Given the description of an element on the screen output the (x, y) to click on. 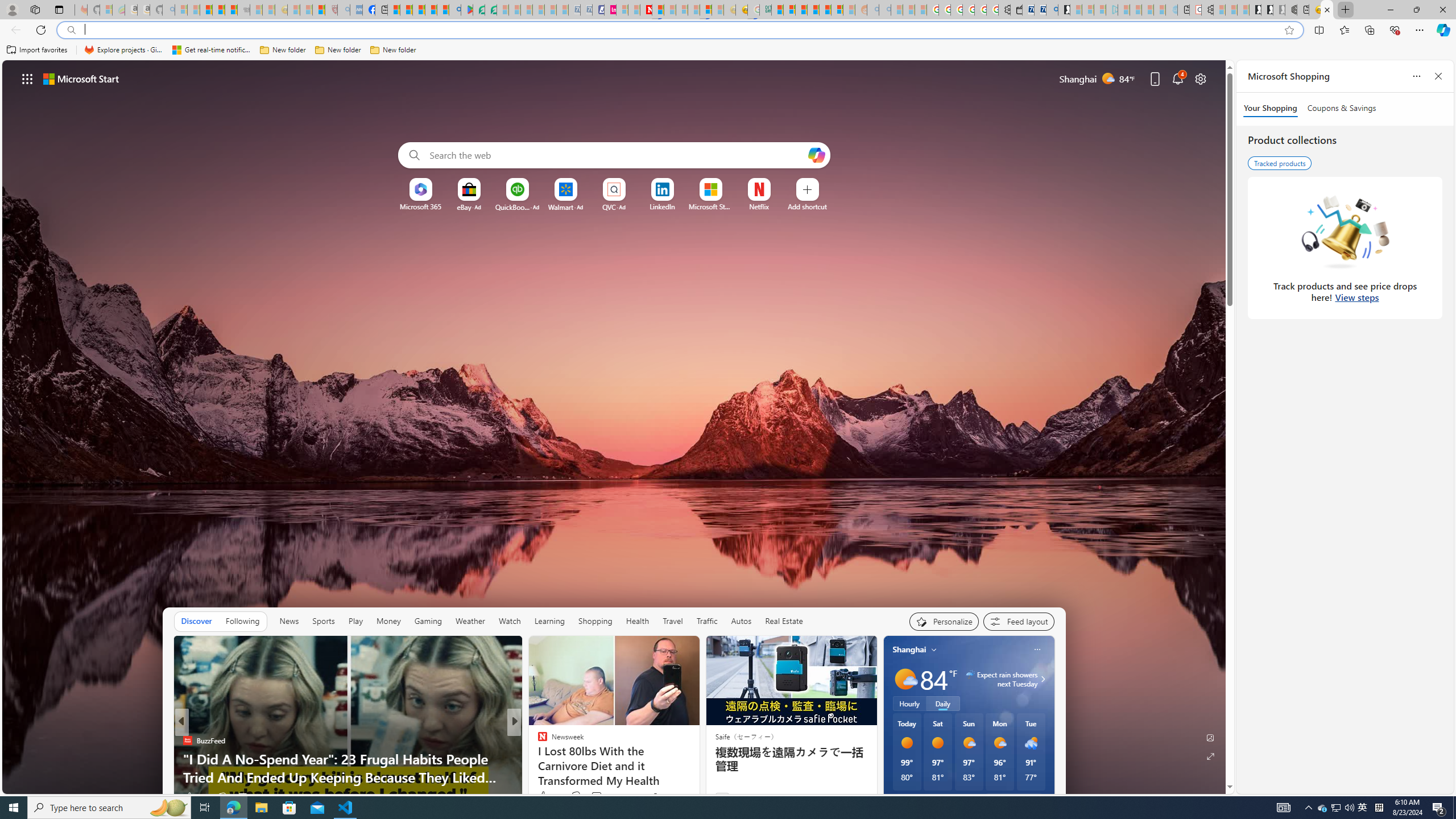
15 Anti-Aging Foods to Add to Your Diet (697, 777)
Body Network (537, 740)
View comments 31 Comment (597, 796)
View comments 13 Comment (597, 796)
